Given the description of an element on the screen output the (x, y) to click on. 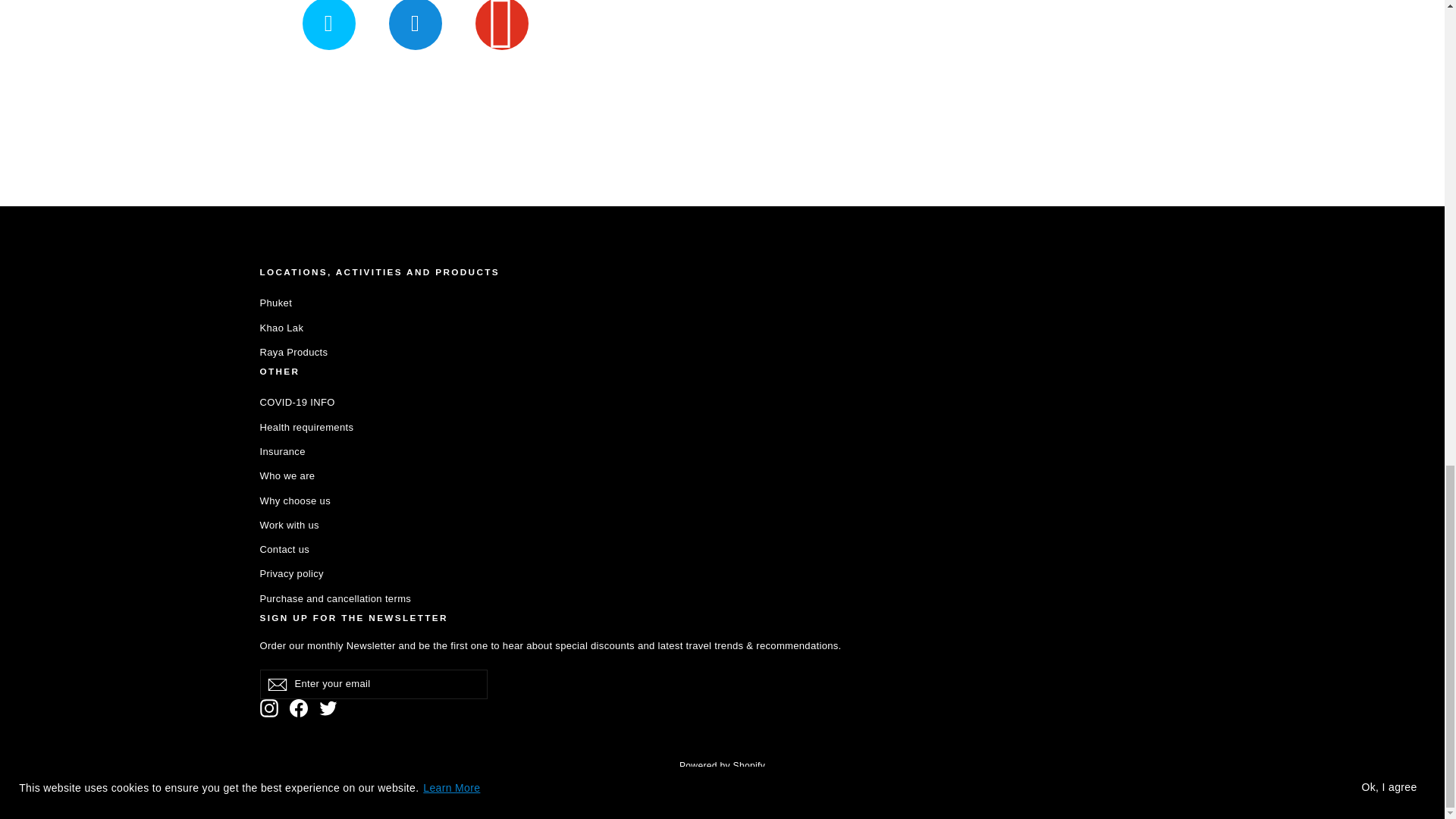
Raya Divers on Twitter (327, 708)
Diving center Koh Lanta Twitter (328, 24)
Raya Divers on Facebook (298, 708)
Raya Divers on Instagram (268, 708)
Diving center Koh Lanta Facebook (415, 24)
Diving center Koh Lanta Instagram (502, 24)
